Given the description of an element on the screen output the (x, y) to click on. 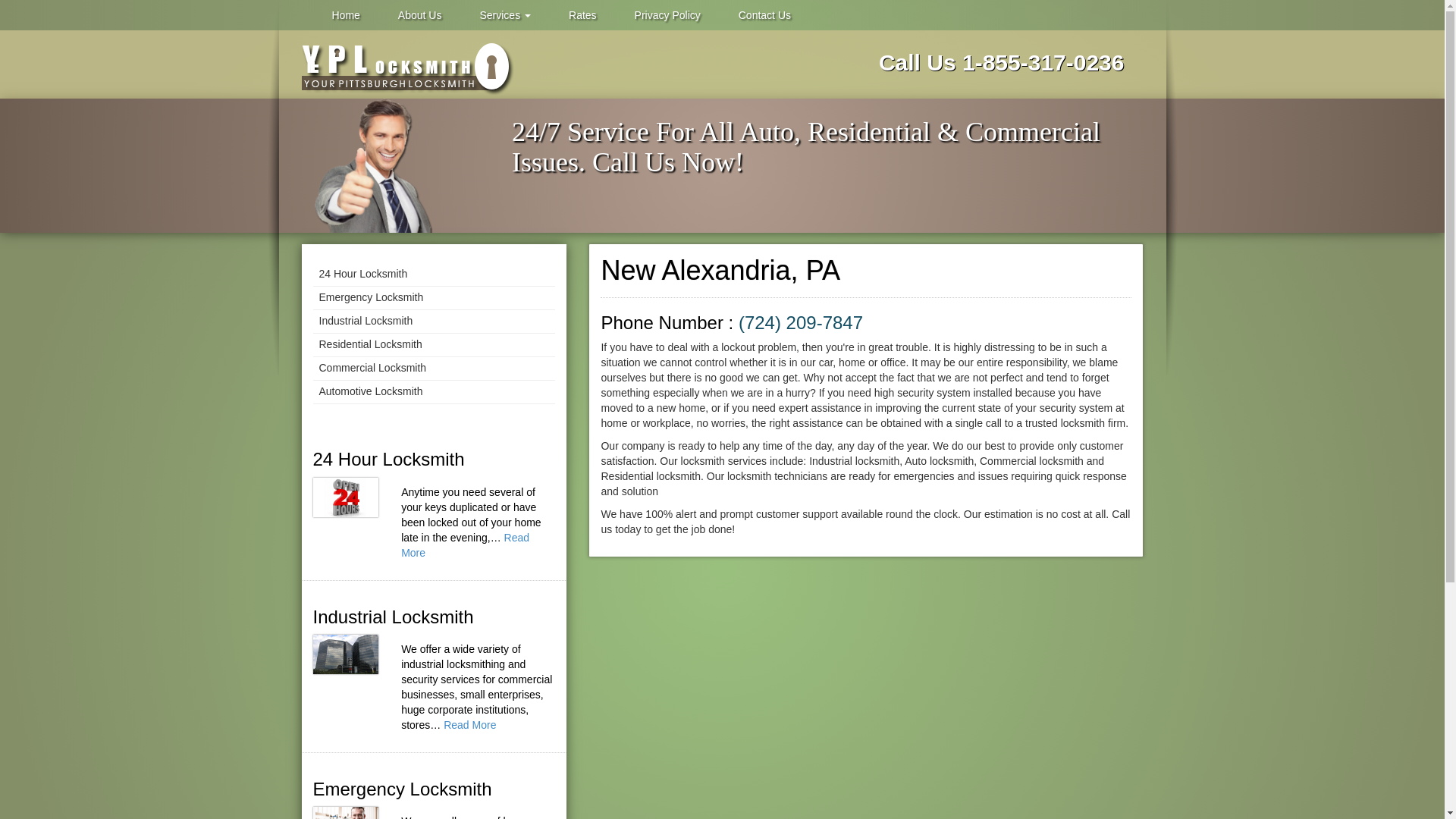
1-855-317-0236 (1043, 62)
Read More (470, 725)
Read More (465, 544)
Home (345, 15)
Services (505, 15)
Rates (582, 15)
Contact Us (764, 15)
Emergency Locksmith (433, 298)
24 Hour Locksmith (433, 274)
Residential Locksmith (433, 345)
